Given the description of an element on the screen output the (x, y) to click on. 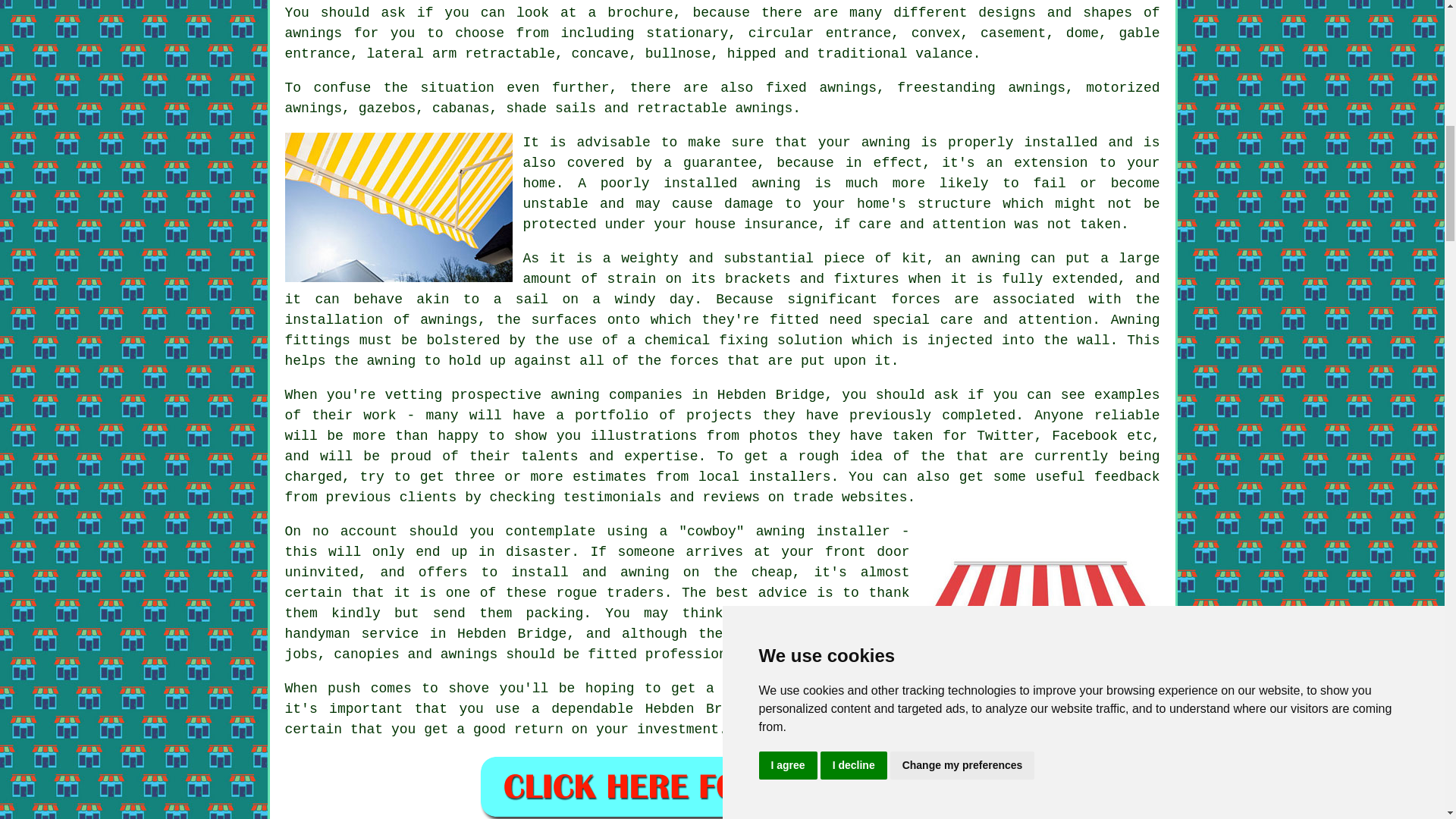
awning (1100, 688)
awnings (448, 319)
awnings (313, 32)
Awning Installers Quotes in Hebden Bridge (722, 786)
Awning Installers Hebden Bridge (398, 206)
awning (886, 142)
Hebden Bridge Awning Installation (1040, 599)
